Given the description of an element on the screen output the (x, y) to click on. 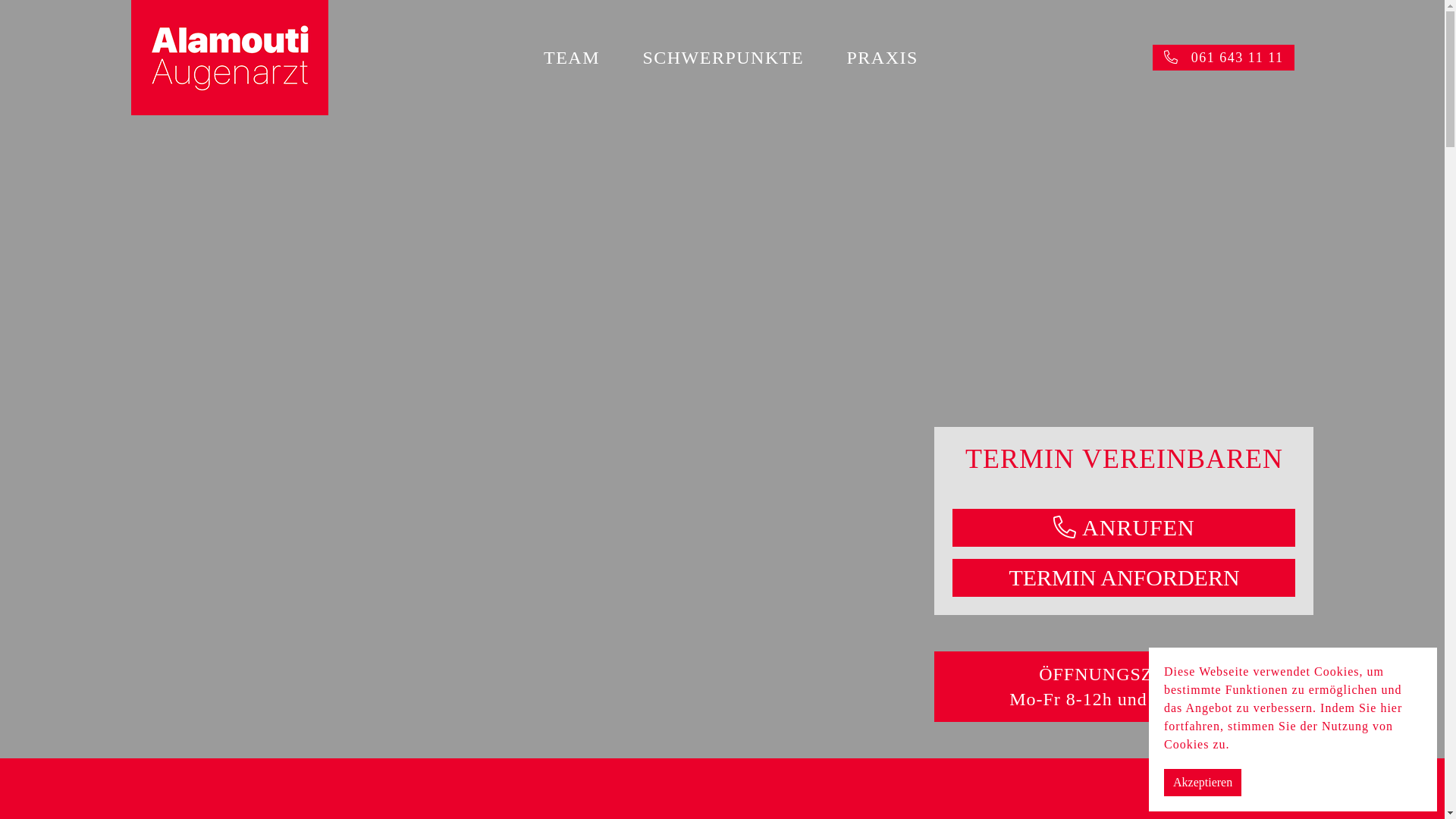
Akzeptieren Element type: text (1202, 782)
TEAM Element type: text (571, 57)
061 643 11 11 Element type: text (1223, 56)
ANRUFEN Element type: text (1123, 527)
PRAXIS Element type: text (882, 57)
Mehr Informationen Element type: text (1289, 743)
TERMIN ANFORDERN Element type: text (1123, 577)
SCHWERPUNKTE Element type: text (723, 57)
